Given the description of an element on the screen output the (x, y) to click on. 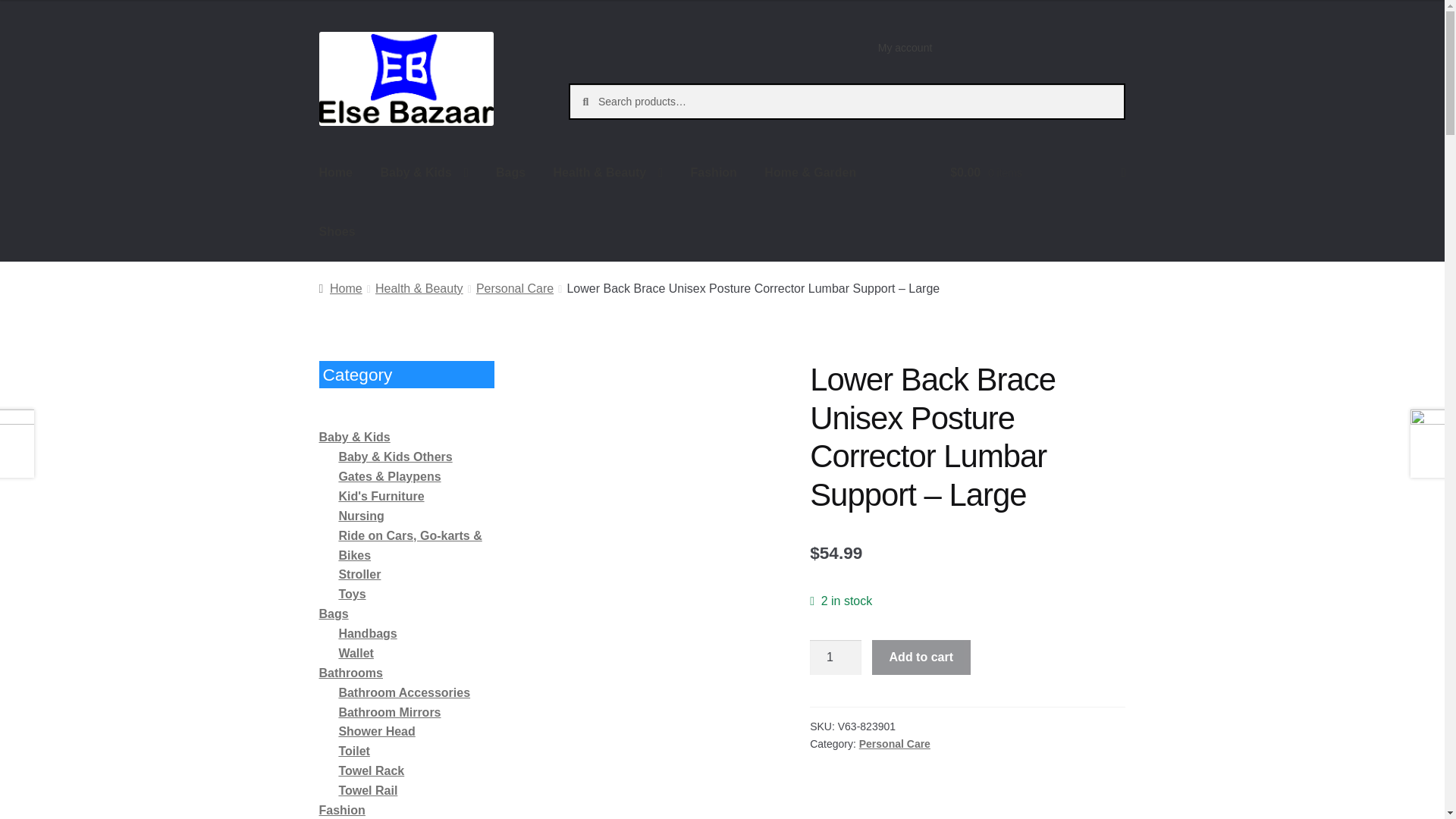
View your shopping cart (1037, 172)
1 (835, 656)
Fashion (713, 172)
Home (336, 172)
My account (905, 47)
Bags (510, 172)
Shoes (337, 231)
